Given the description of an element on the screen output the (x, y) to click on. 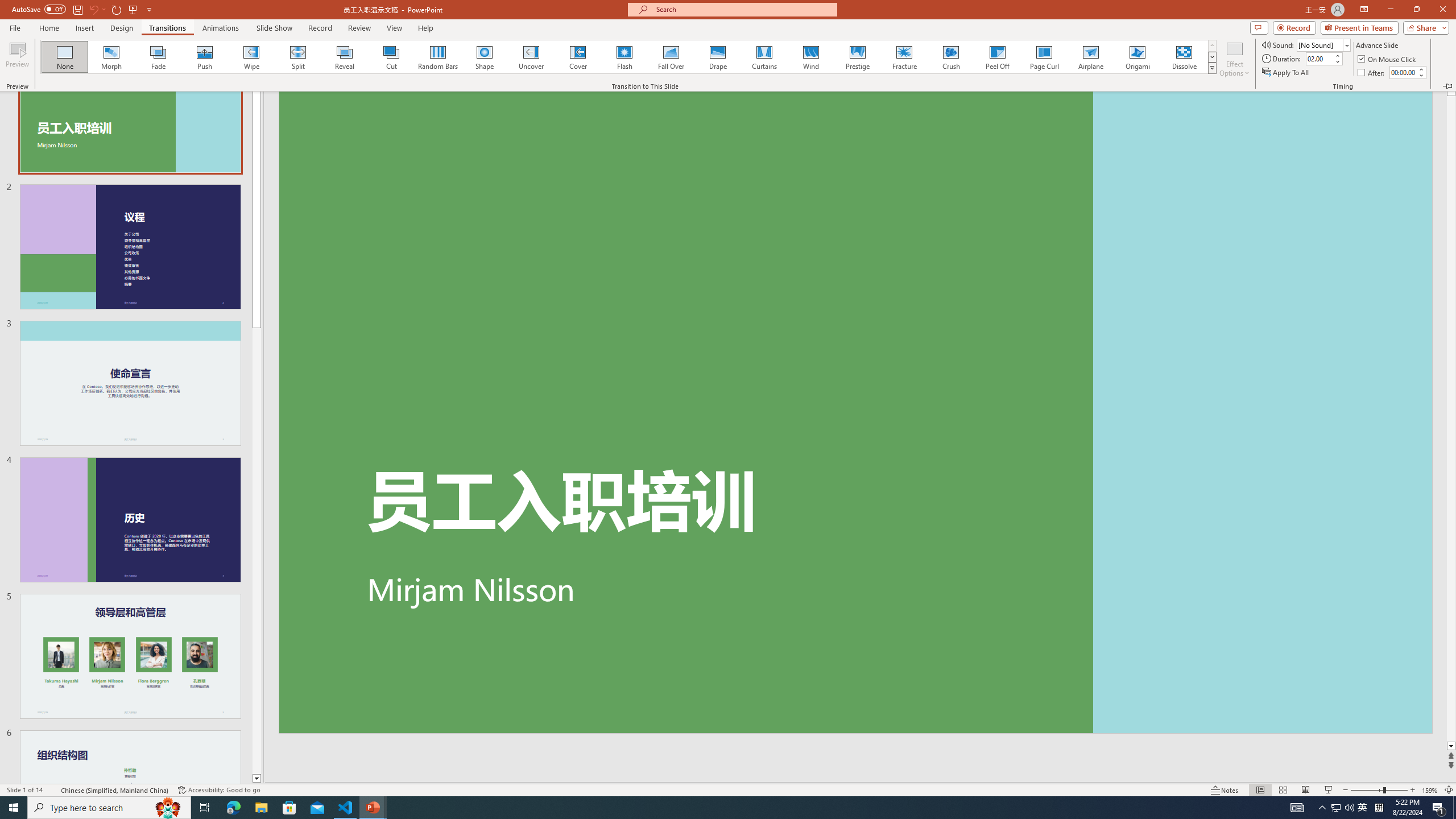
Spell Check  (52, 790)
